Given the description of an element on the screen output the (x, y) to click on. 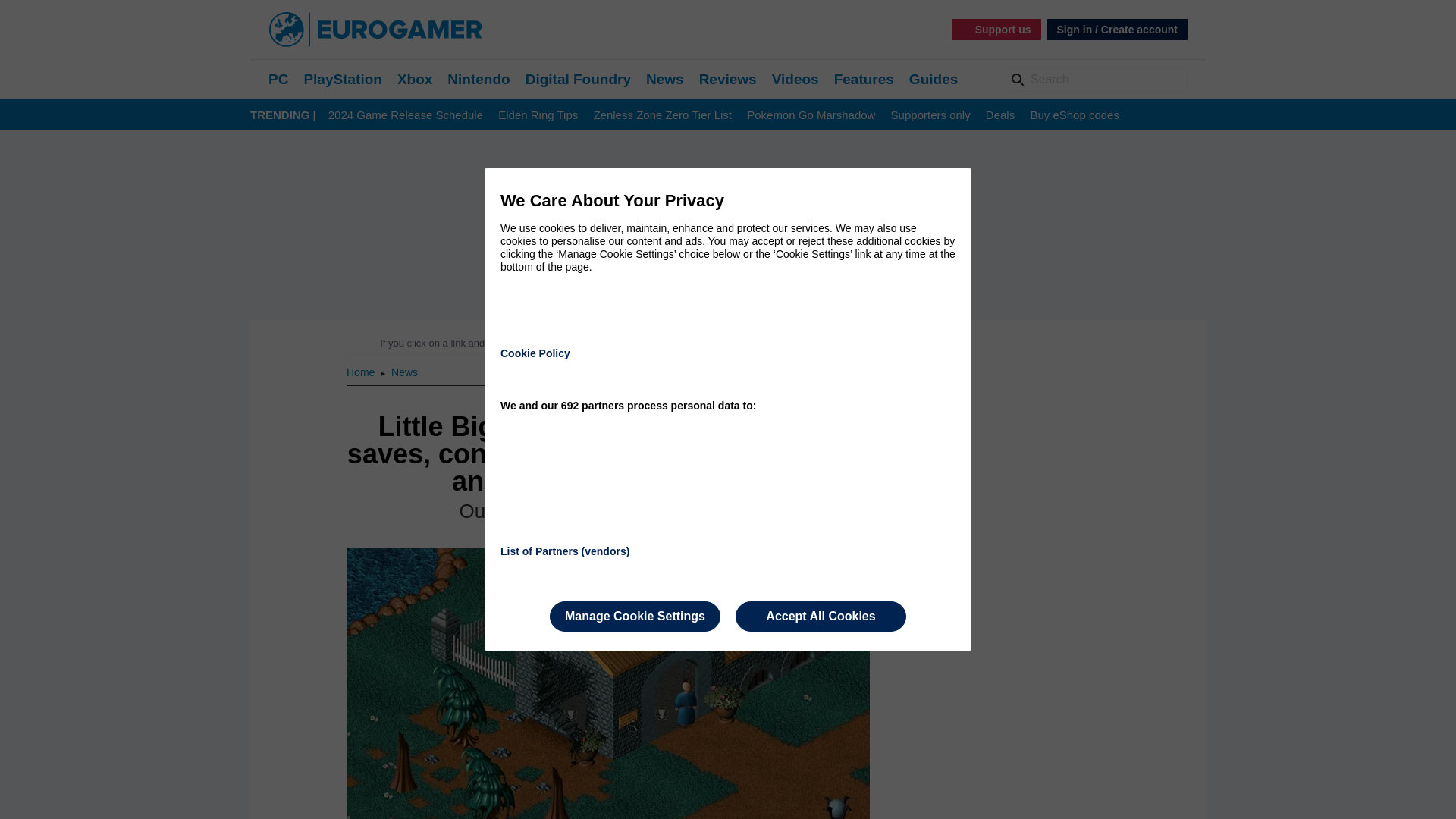
PlayStation (341, 78)
Zenless Zone Zero Tier List (662, 114)
PlayStation (341, 78)
Buy eShop codes (1074, 114)
Features (863, 78)
Zenless Zone Zero Tier List (662, 114)
Deals (999, 114)
2024 Game Release Schedule (406, 114)
Support us (996, 29)
Reviews (727, 78)
Xbox (414, 78)
Guides (933, 78)
Nintendo (477, 78)
Supporters only (931, 114)
Elden Ring Tips (537, 114)
